Given the description of an element on the screen output the (x, y) to click on. 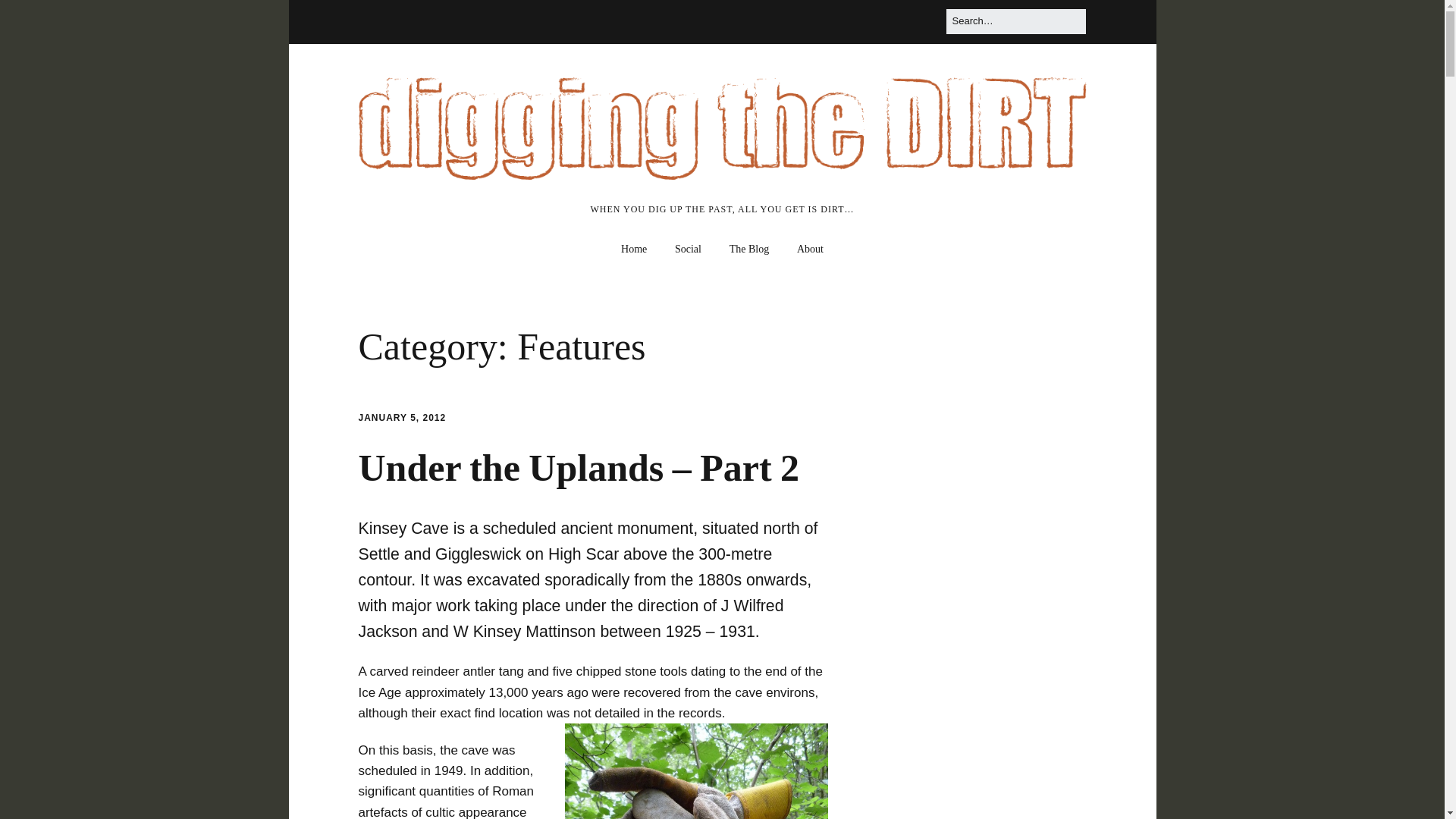
Search (29, 16)
Social (687, 249)
Home (633, 249)
Cave Archaeology - Hat and Gloves (696, 771)
Press Enter to submit your search (1015, 21)
About (809, 249)
The Blog (749, 249)
JANUARY 5, 2012 (401, 417)
